Given the description of an element on the screen output the (x, y) to click on. 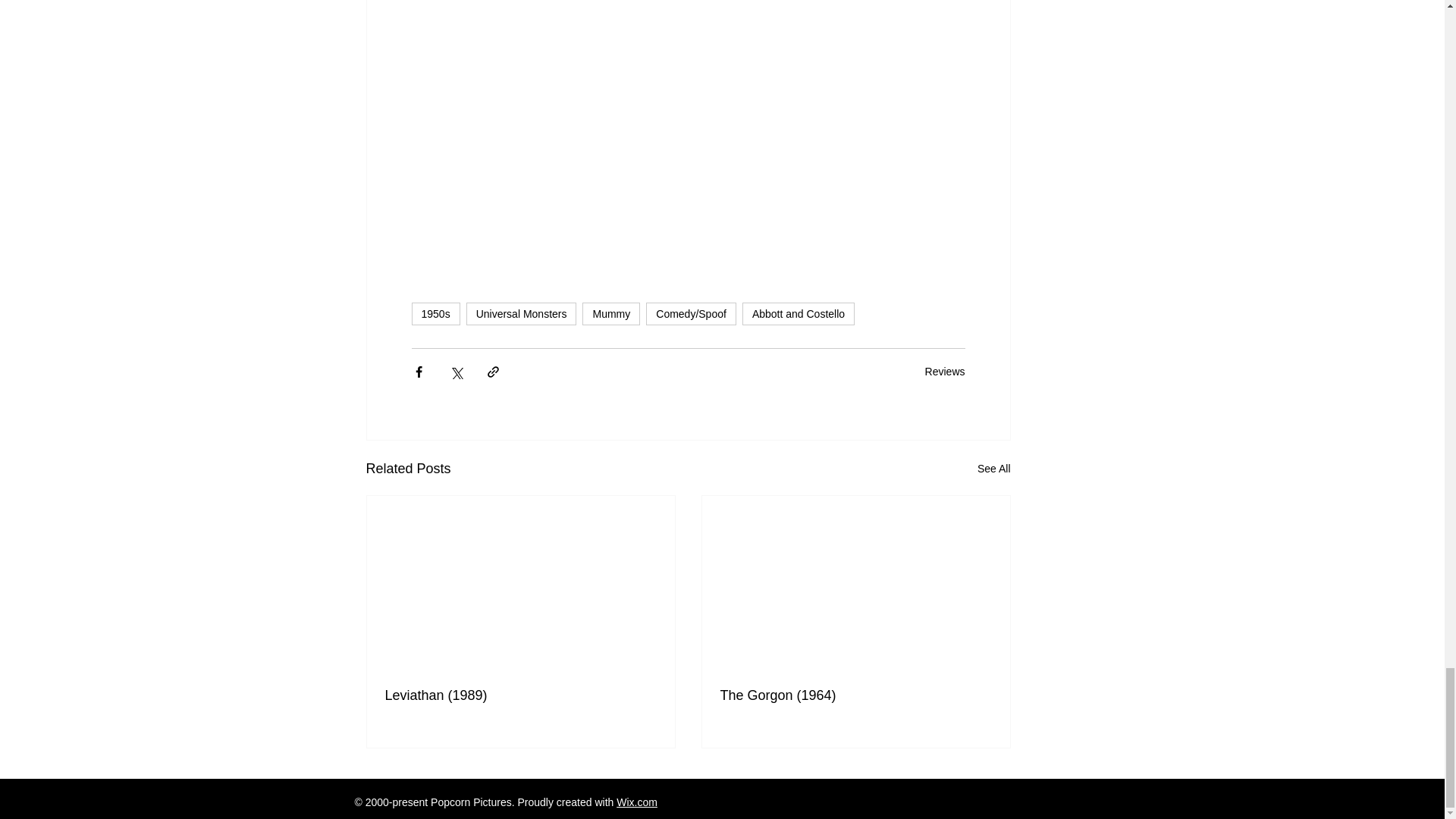
1950s (435, 313)
Mummy (611, 313)
See All (993, 468)
Abbott and Costello (798, 313)
Reviews (944, 371)
Universal Monsters (520, 313)
Wix.com (636, 802)
